Given the description of an element on the screen output the (x, y) to click on. 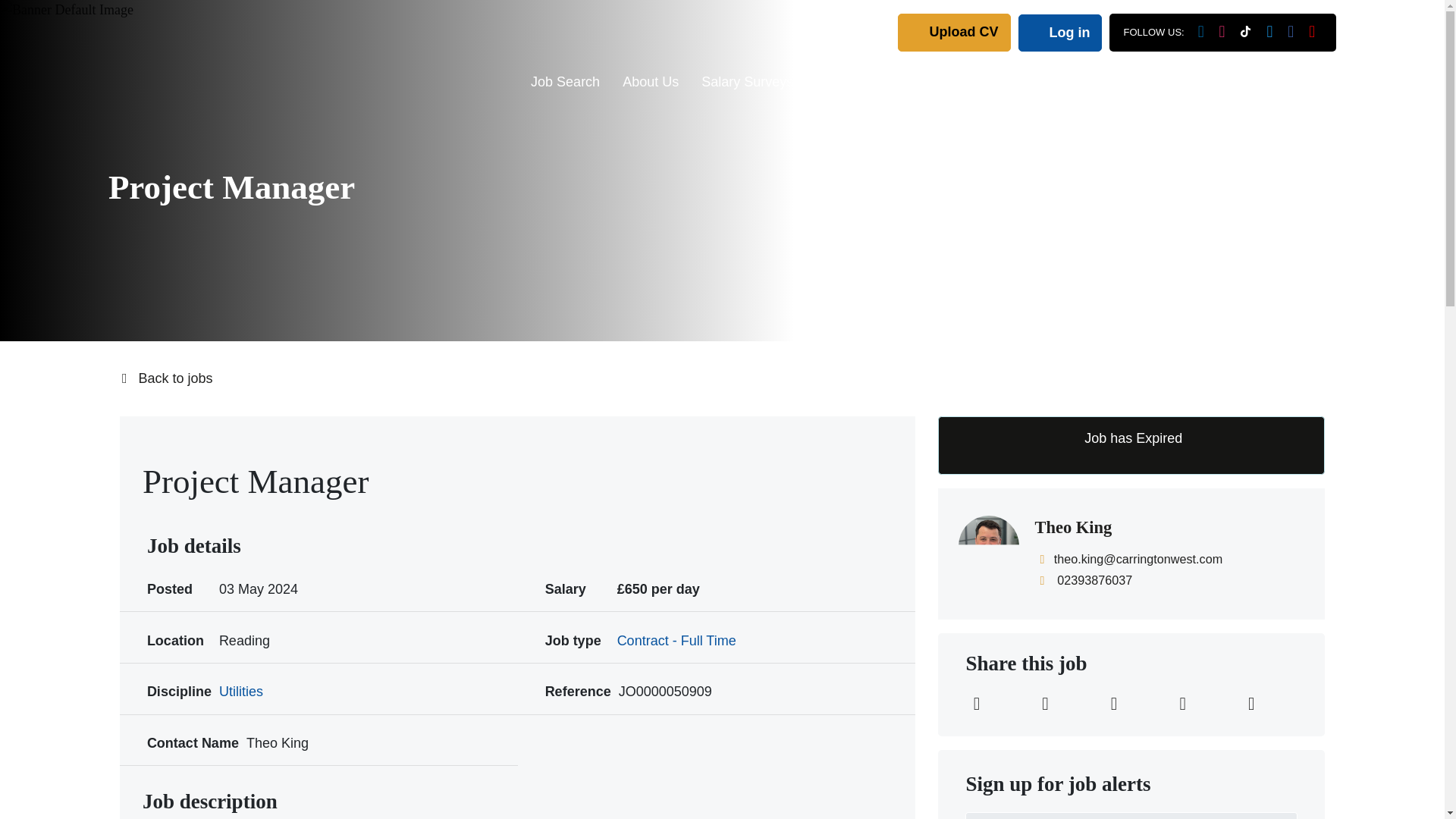
About Us (650, 84)
Resources (882, 84)
Sectors (960, 84)
Salary Surveys 2024 (764, 84)
Upload CV (954, 31)
Job Search (565, 84)
Log in (1059, 31)
Go to the Homepage (191, 52)
